Given the description of an element on the screen output the (x, y) to click on. 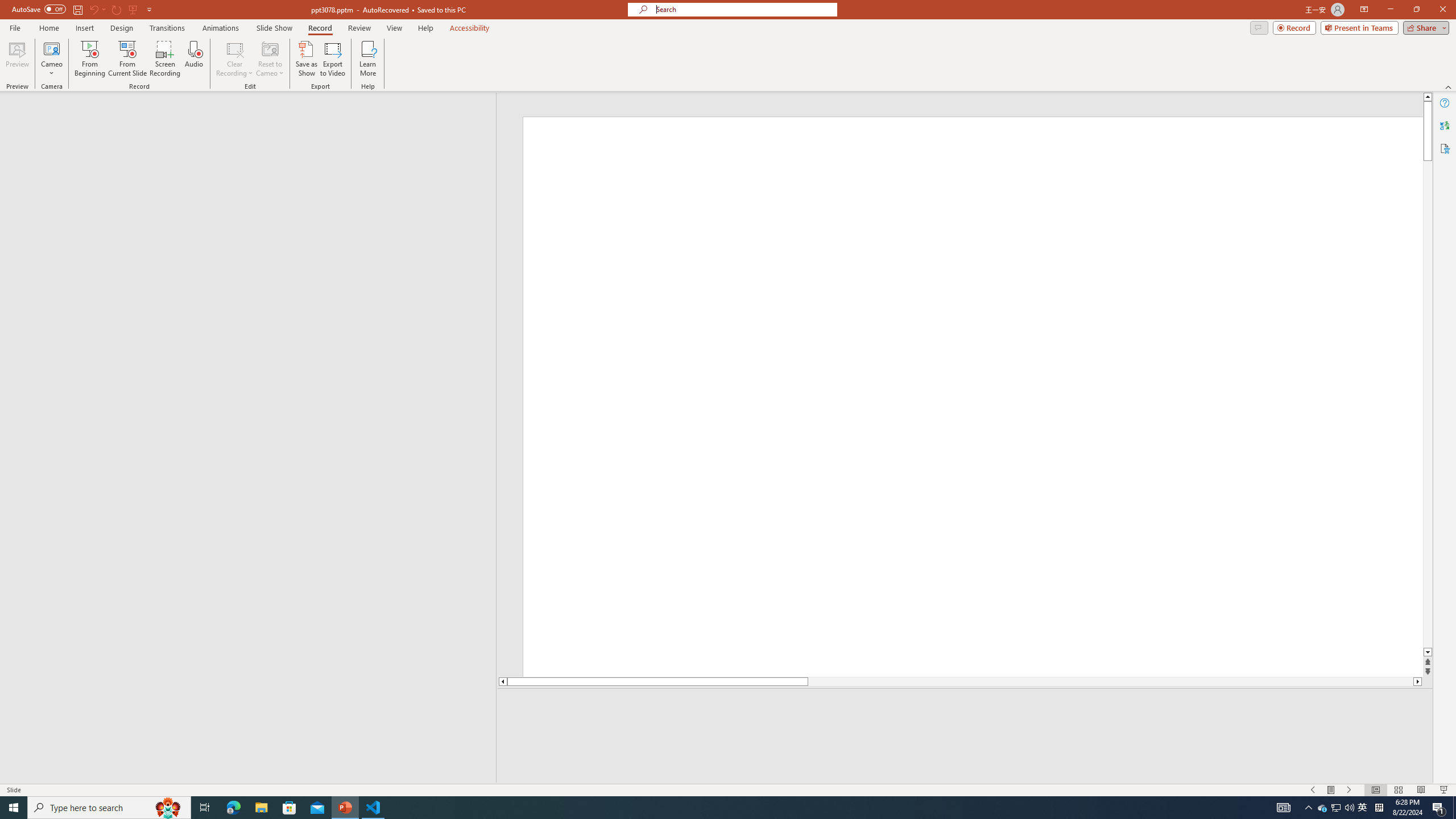
Slide Show Next On (1349, 790)
From Beginning... (89, 58)
Screen Recording (165, 58)
Save as Show (306, 58)
